Given the description of an element on the screen output the (x, y) to click on. 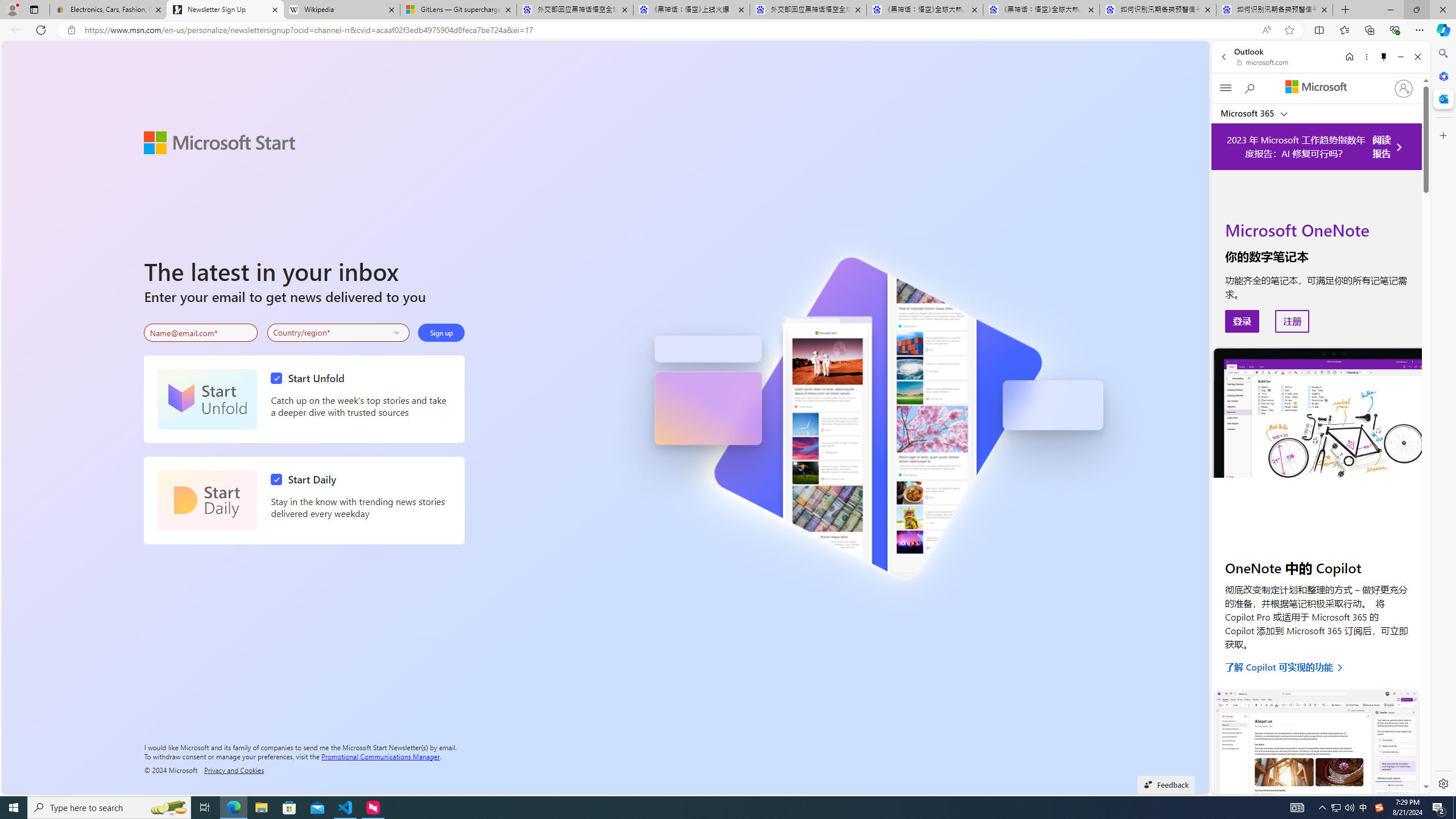
Sign up (441, 332)
Enter your email (200, 332)
Select your country (338, 332)
Start Daily (306, 479)
Privacy and Cookies (233, 769)
Wikipedia (341, 9)
Electronics, Cars, Fashion, Collectibles & More | eBay (108, 9)
